Given the description of an element on the screen output the (x, y) to click on. 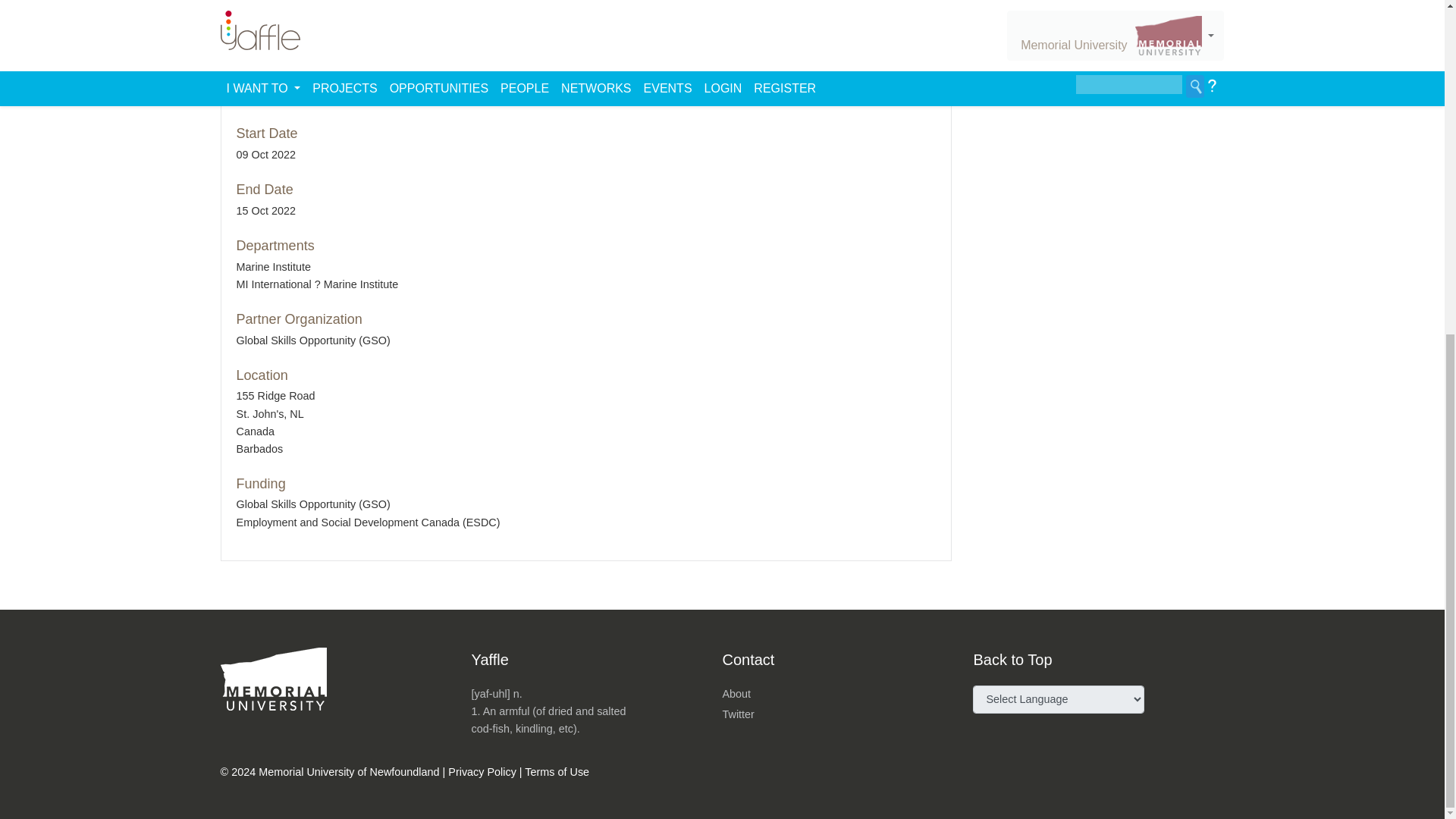
Privacy Policy (482, 771)
Terms of Use (556, 771)
About (736, 693)
Back to Top (1011, 659)
Twitter (738, 714)
